Given the description of an element on the screen output the (x, y) to click on. 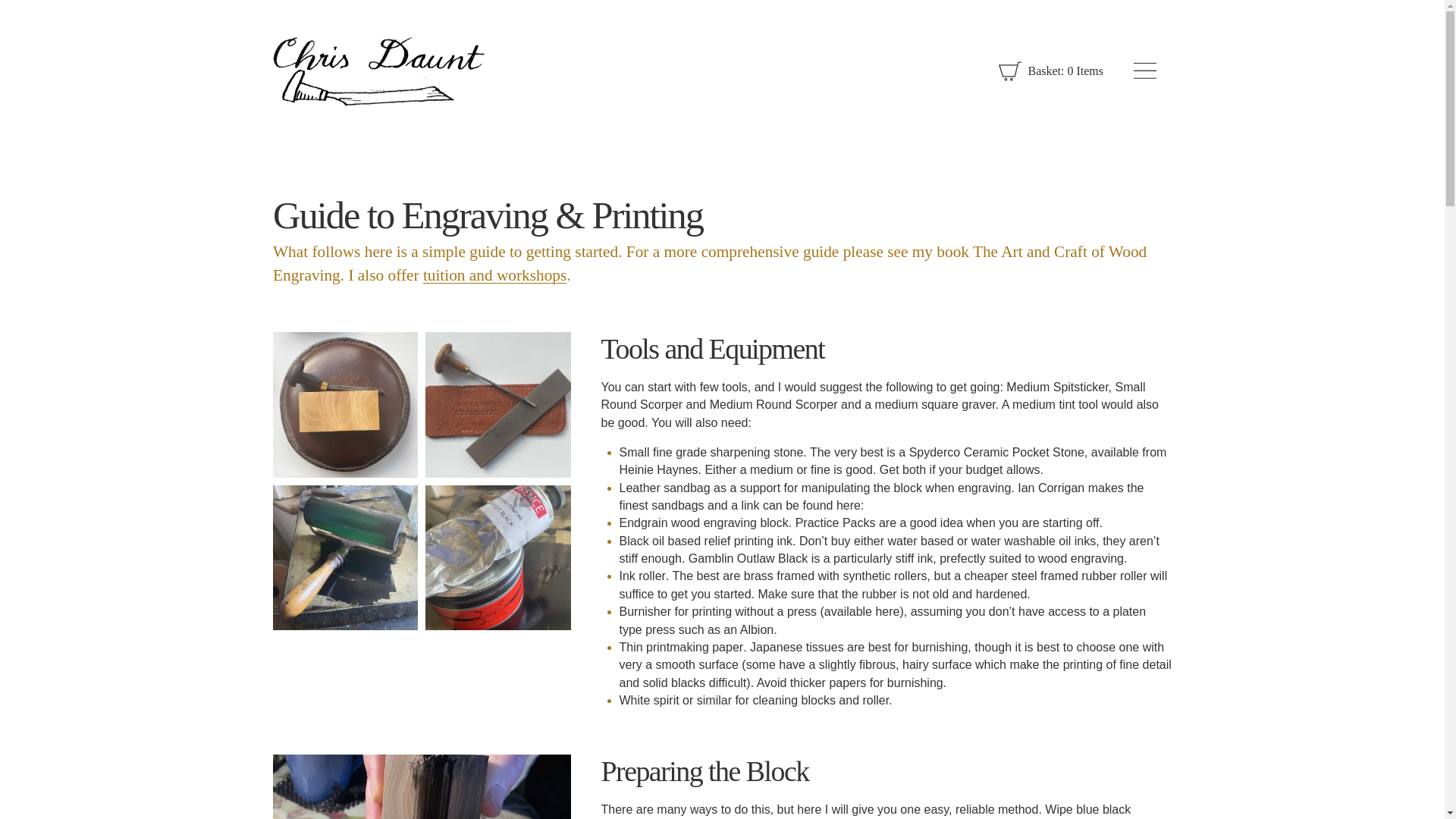
tuition and workshops (494, 275)
Skip to main content (20, 21)
 Basket: 0 Items (1051, 70)
